Given the description of an element on the screen output the (x, y) to click on. 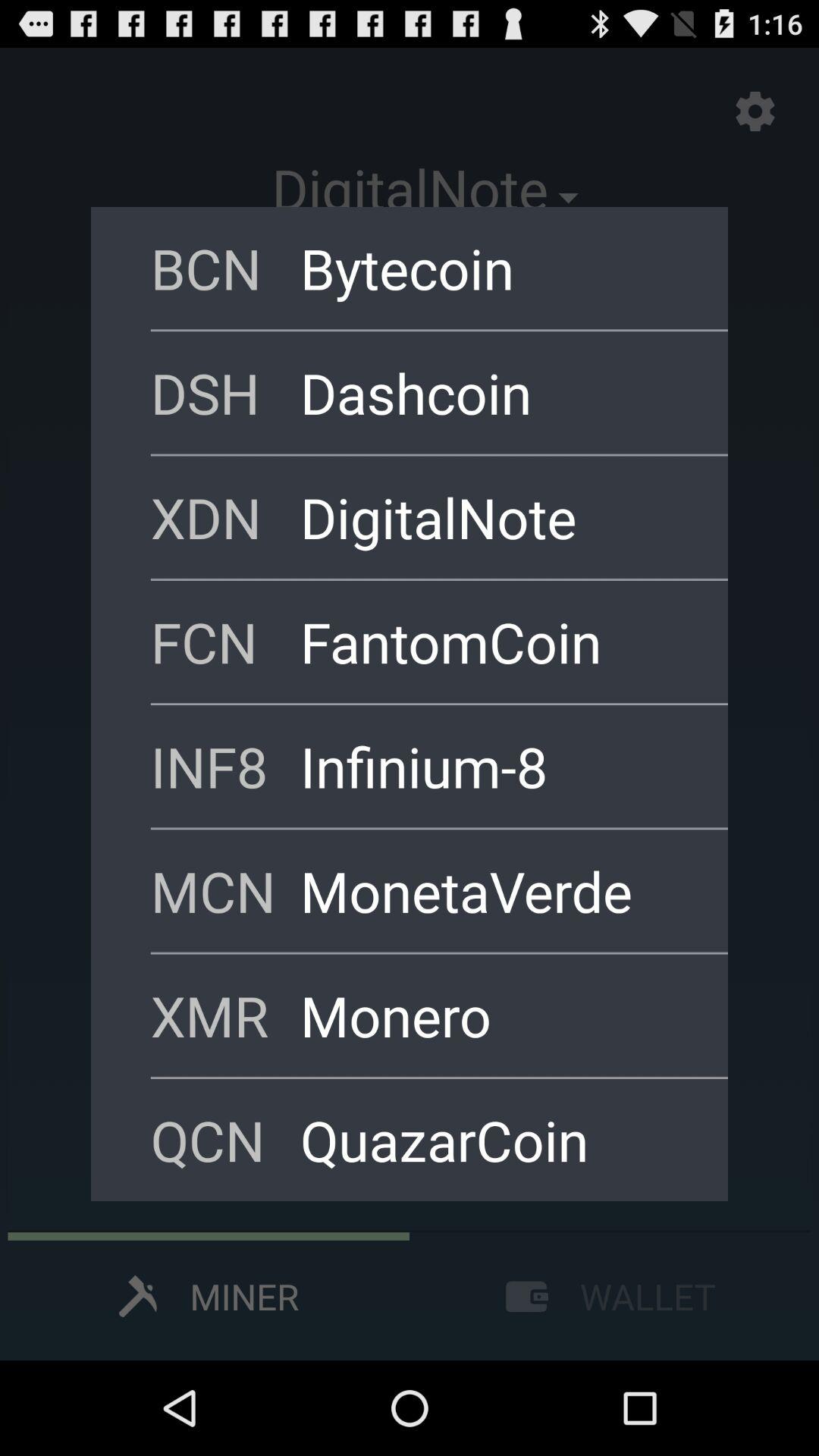
press icon next to infinium-8 icon (225, 766)
